Given the description of an element on the screen output the (x, y) to click on. 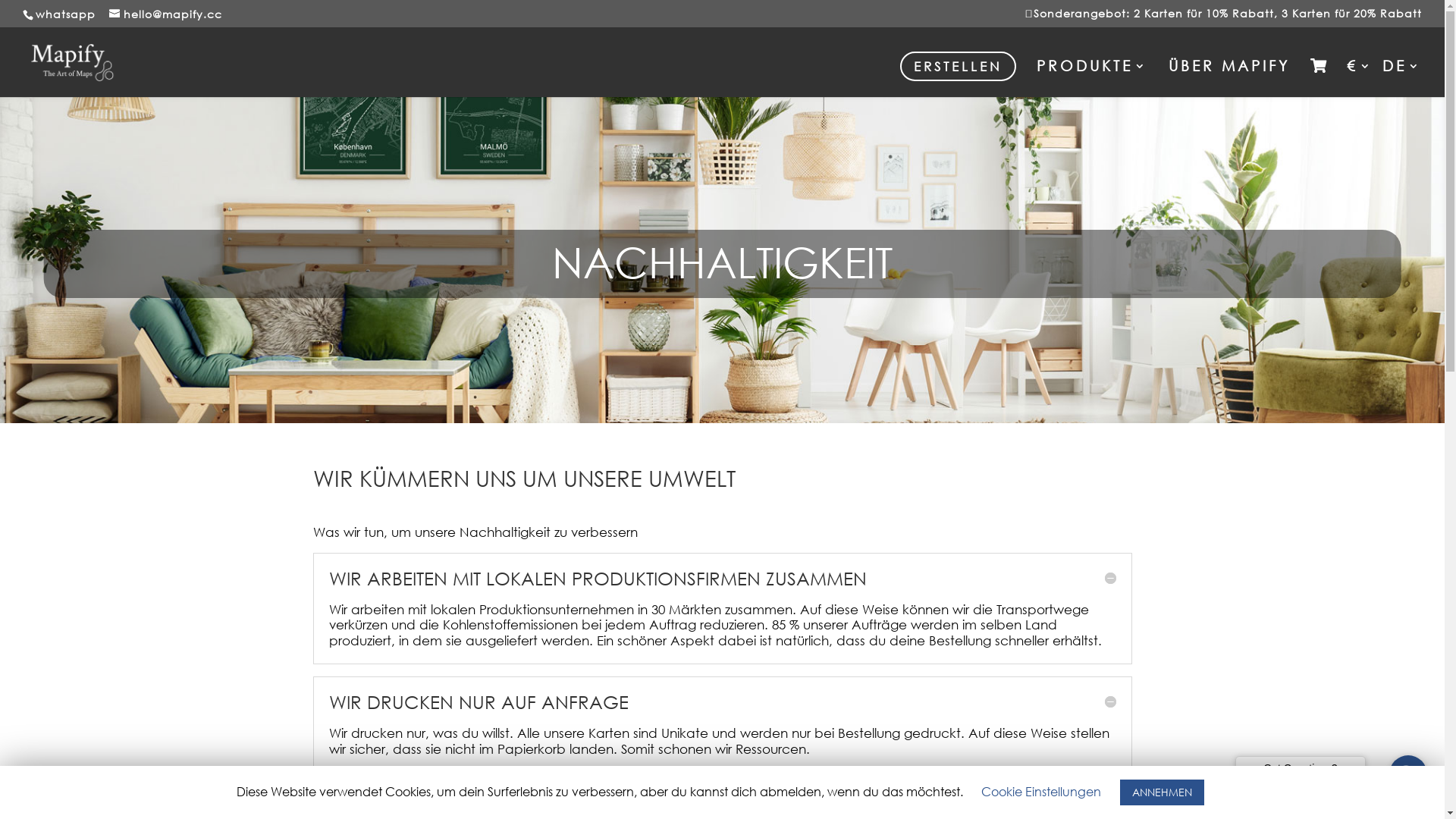
whatsapp Element type: text (65, 13)
Cookie Einstellungen Element type: text (1041, 791)
ERSTELLEN Element type: text (958, 66)
hello@mapify.cc Element type: text (165, 13)
PRODUKTE Element type: text (1092, 77)
DE Element type: text (1401, 77)
ANNEHMEN Element type: text (1162, 792)
